Given the description of an element on the screen output the (x, y) to click on. 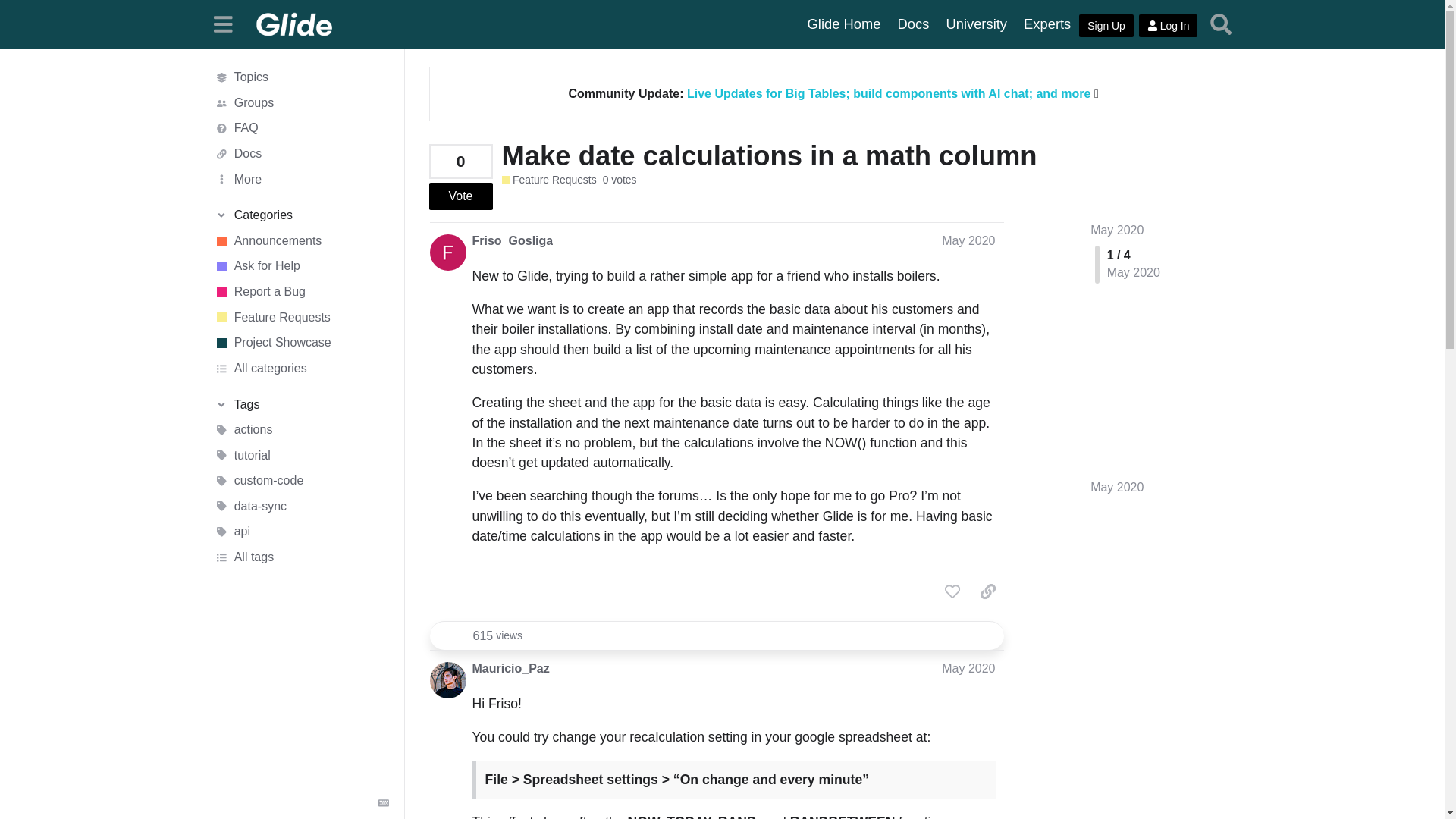
Categories (301, 216)
tutorial (301, 455)
Groups (301, 103)
Topics (301, 77)
Project Showcase (301, 343)
api (301, 532)
Glide Docs for reference (913, 23)
Docs (301, 153)
Report a Bug (301, 291)
